Given the description of an element on the screen output the (x, y) to click on. 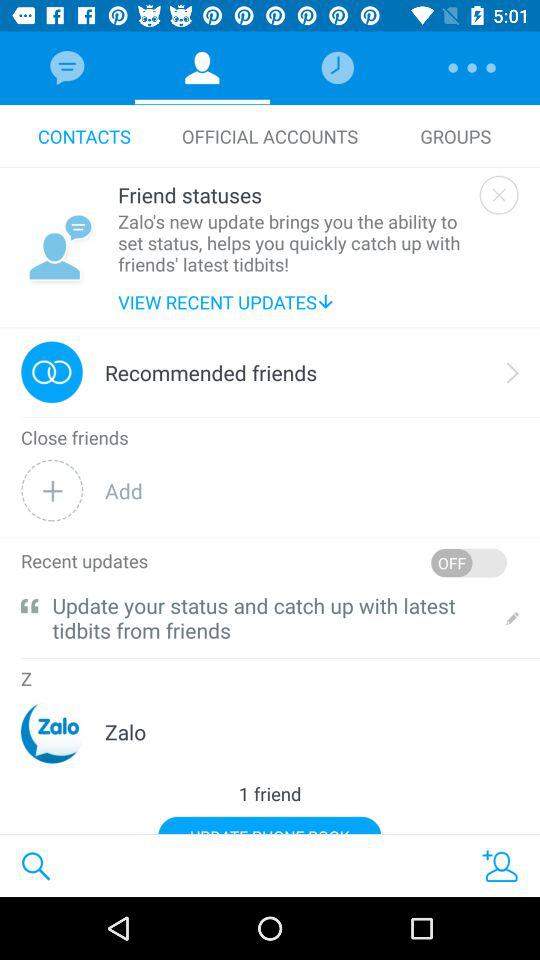
turn on 1 friend icon (269, 793)
